Given the description of an element on the screen output the (x, y) to click on. 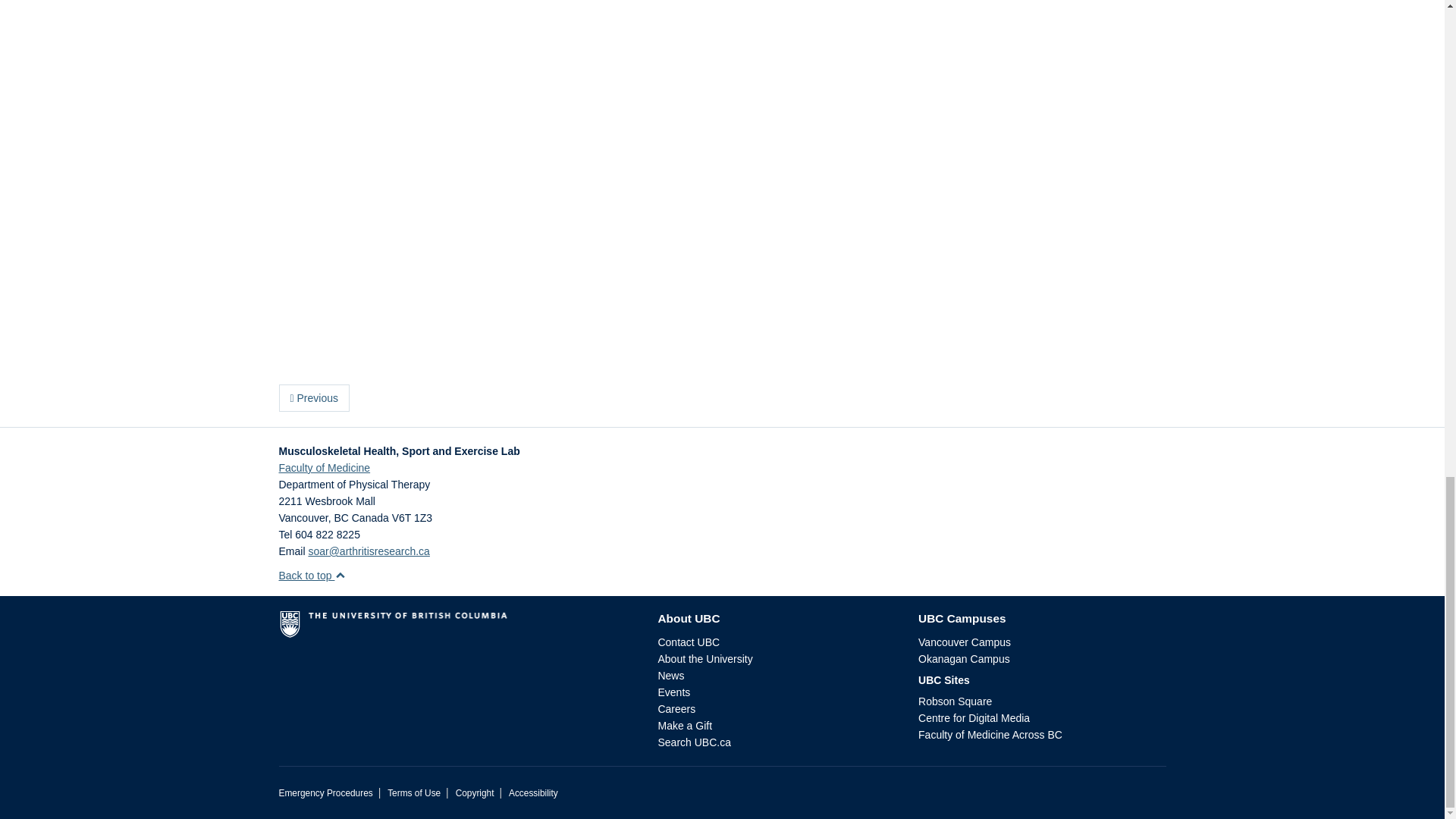
Back to top (312, 575)
Events (674, 692)
Previous (314, 397)
Okanagan Campus (964, 658)
Vancouver Campus (964, 642)
Back to top (312, 575)
About the University (705, 658)
Emergency Procedures (325, 792)
Terms of Use (414, 792)
Make a Gift (684, 725)
